Given the description of an element on the screen output the (x, y) to click on. 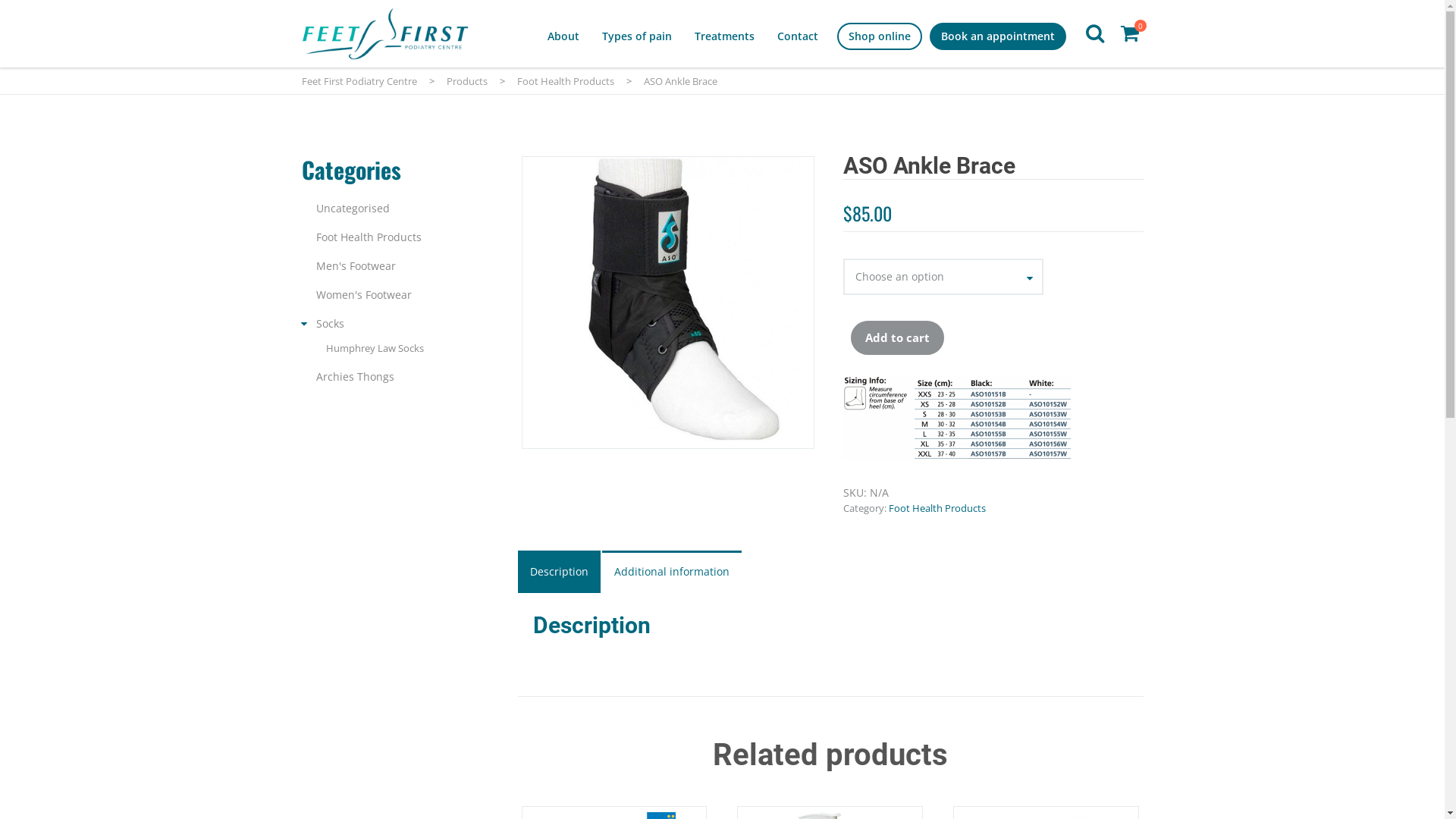
Foot Health Products Element type: text (367, 236)
Description Element type: text (558, 572)
Archies Thongs Element type: text (354, 376)
Add to cart Element type: text (897, 337)
Men's Footwear Element type: text (355, 265)
Additional information Element type: text (671, 572)
Contact Element type: text (796, 35)
Socks Element type: text (329, 323)
Treatments Element type: text (724, 35)
ASO Ankle Brace Element type: hover (666, 302)
Feet First Podiatry Centre Element type: text (359, 80)
Book an appointment Element type: text (997, 35)
Uncategorised Element type: text (352, 207)
Foot Health Products Element type: text (565, 80)
Types of pain Element type: text (636, 35)
Foot Health Products Element type: text (936, 507)
About Element type: text (563, 35)
Women's Footwear Element type: text (363, 294)
Humphrey Law Socks Element type: text (374, 347)
Products Element type: text (465, 80)
Shop online Element type: text (878, 35)
